Given the description of an element on the screen output the (x, y) to click on. 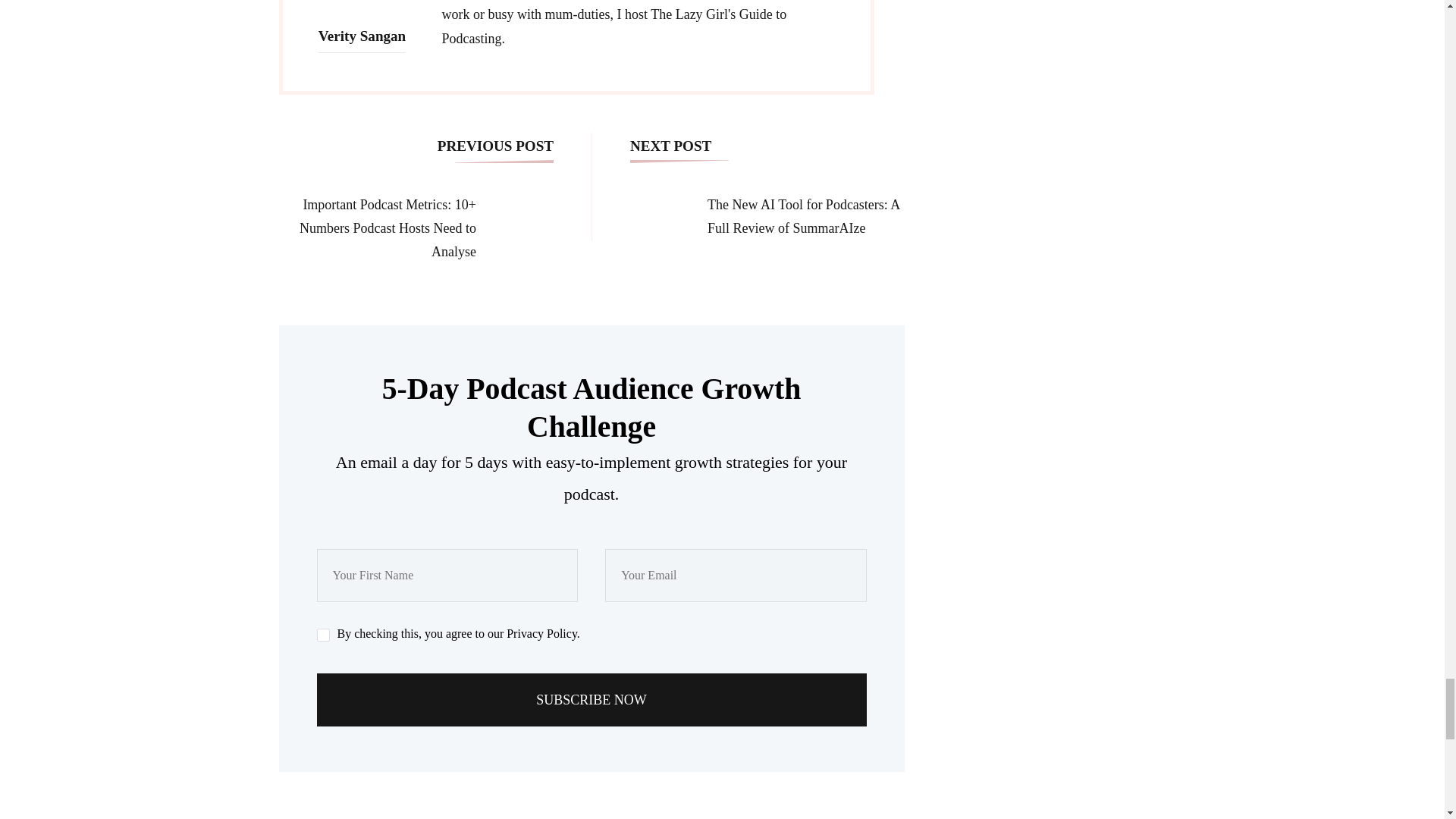
SUBSCRIBE NOW (591, 699)
